Given the description of an element on the screen output the (x, y) to click on. 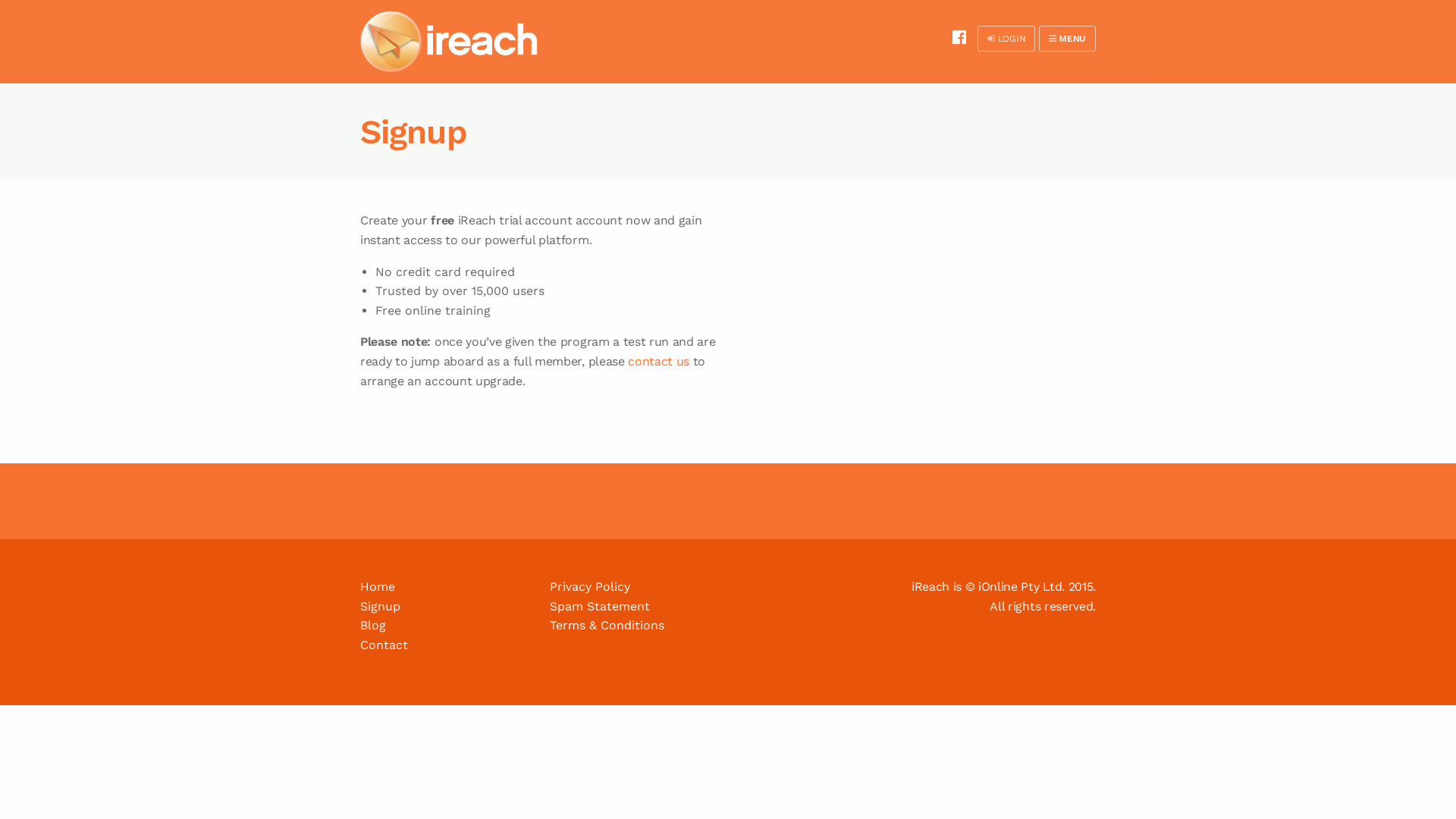
Spam Statement Element type: text (599, 606)
MENU Element type: text (1066, 38)
Privacy Policy Element type: text (589, 586)
Home Element type: text (377, 586)
Find us on Facebook Element type: hover (959, 36)
Terms & Conditions Element type: text (606, 625)
Blog Element type: text (372, 625)
Signup Element type: text (380, 606)
Contact Element type: text (383, 644)
LOGIN Element type: text (1006, 38)
contact us Element type: text (658, 361)
